Given the description of an element on the screen output the (x, y) to click on. 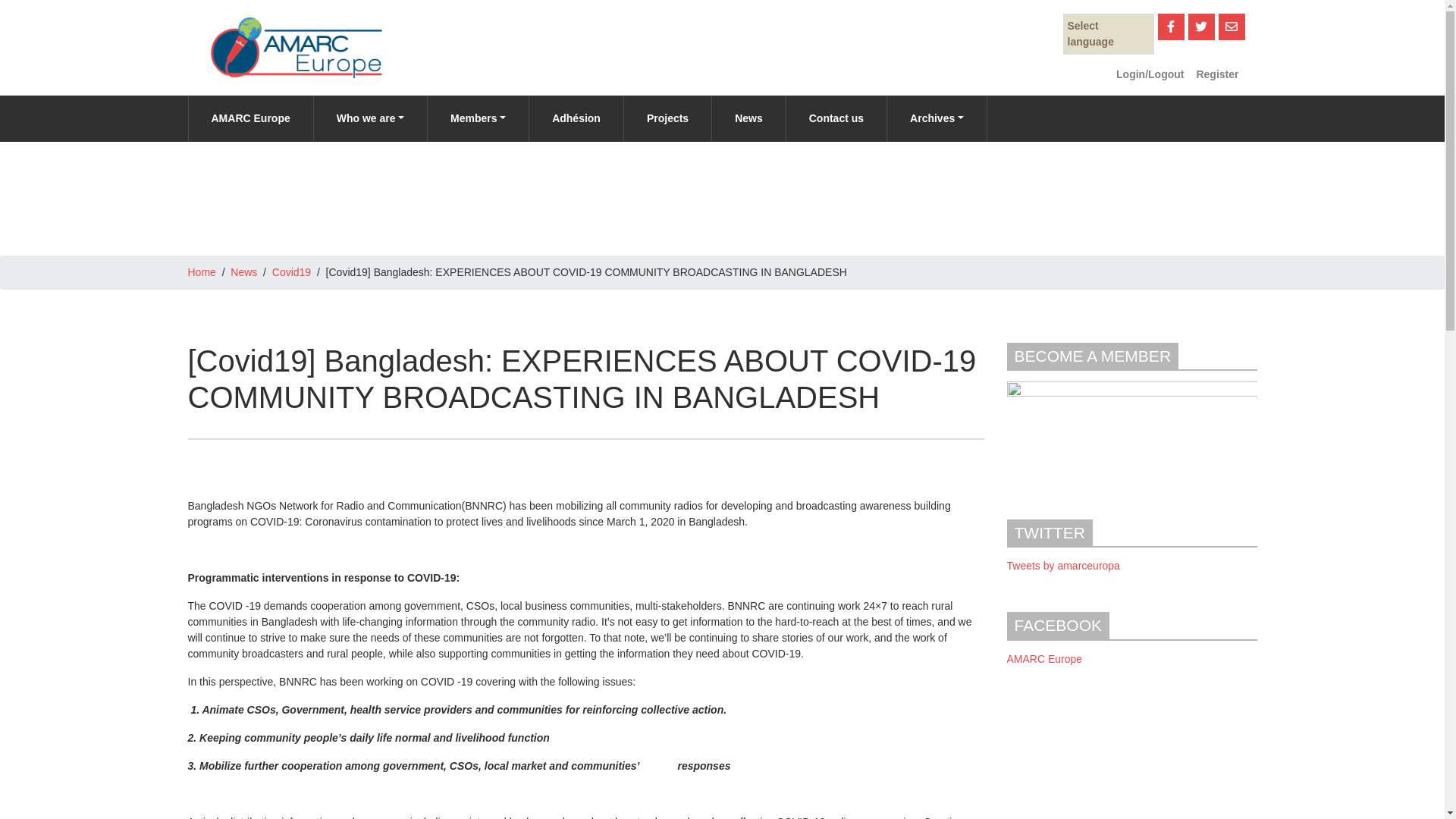
Tweets by amarceuropa (1063, 565)
AMARC Europe (1045, 658)
Members (477, 118)
Contact us (836, 118)
Covid19 (291, 272)
AMARC Europe (250, 118)
News (748, 118)
Register (1216, 74)
Select language (1108, 33)
Archives (936, 118)
News (748, 118)
Members (477, 118)
Who we are (369, 118)
AMARC Europe (250, 118)
Projects (667, 118)
